Given the description of an element on the screen output the (x, y) to click on. 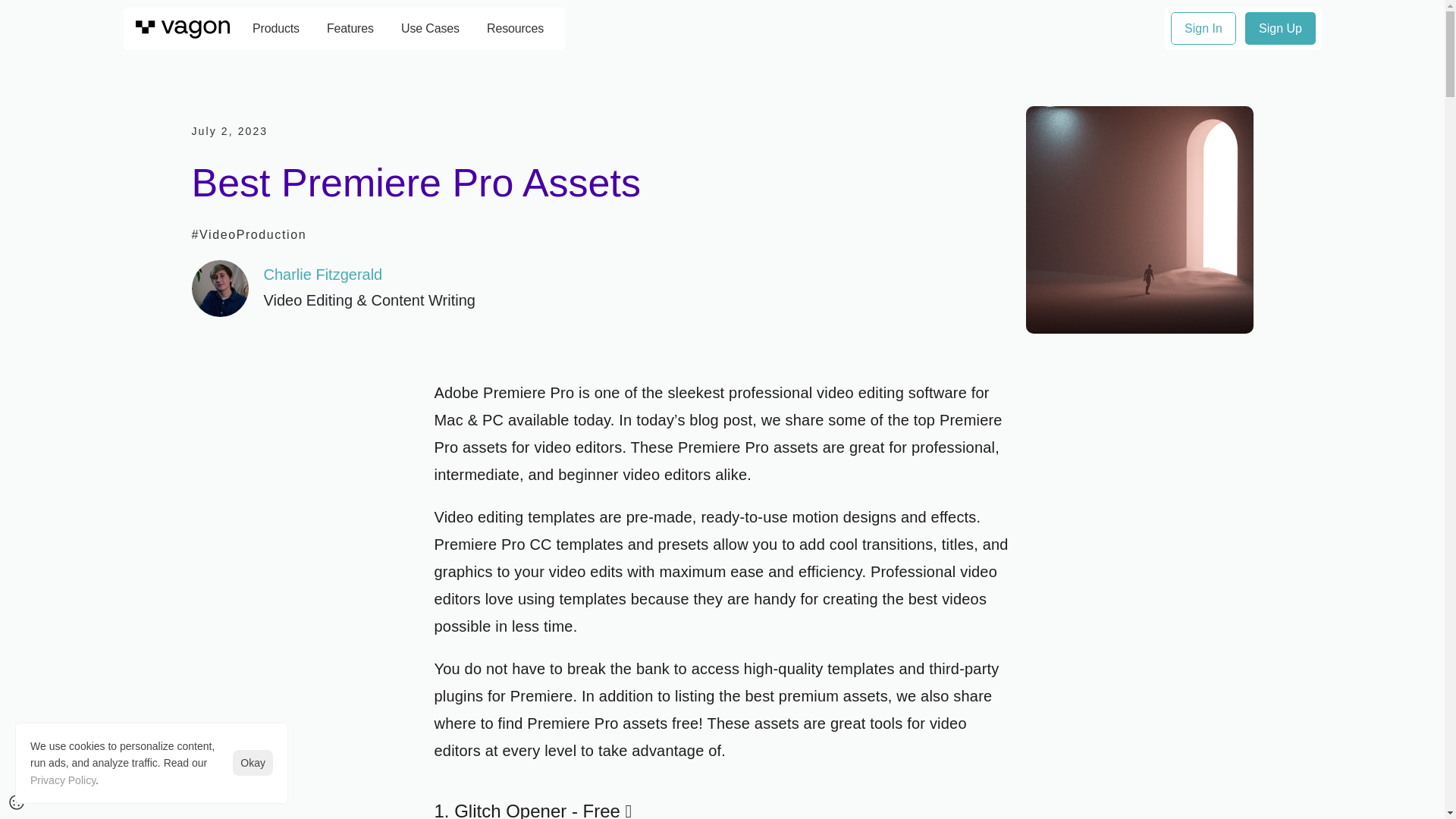
Charlie Fitzgerald (322, 274)
Okay (252, 762)
Premiere Pro CC templates (528, 544)
video editing software (891, 392)
